Given the description of an element on the screen output the (x, y) to click on. 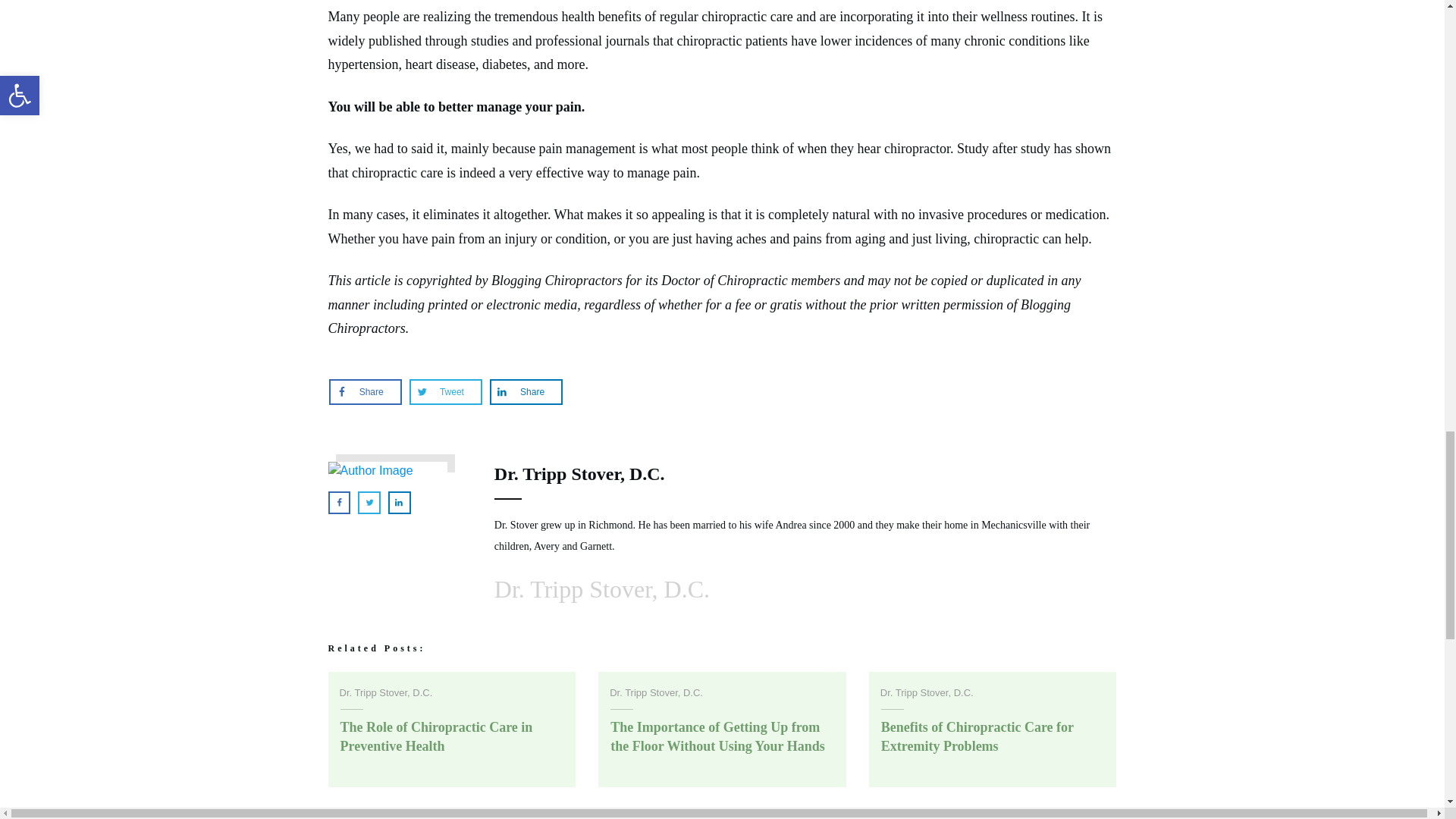
Share (526, 391)
Blogging Chiropractors (557, 280)
Benefits of Chiropractic Care for Extremity Problems (977, 736)
Share (365, 391)
Tweet (445, 391)
The Role of Chiropractic Care in Preventive Health (435, 736)
